Given the description of an element on the screen output the (x, y) to click on. 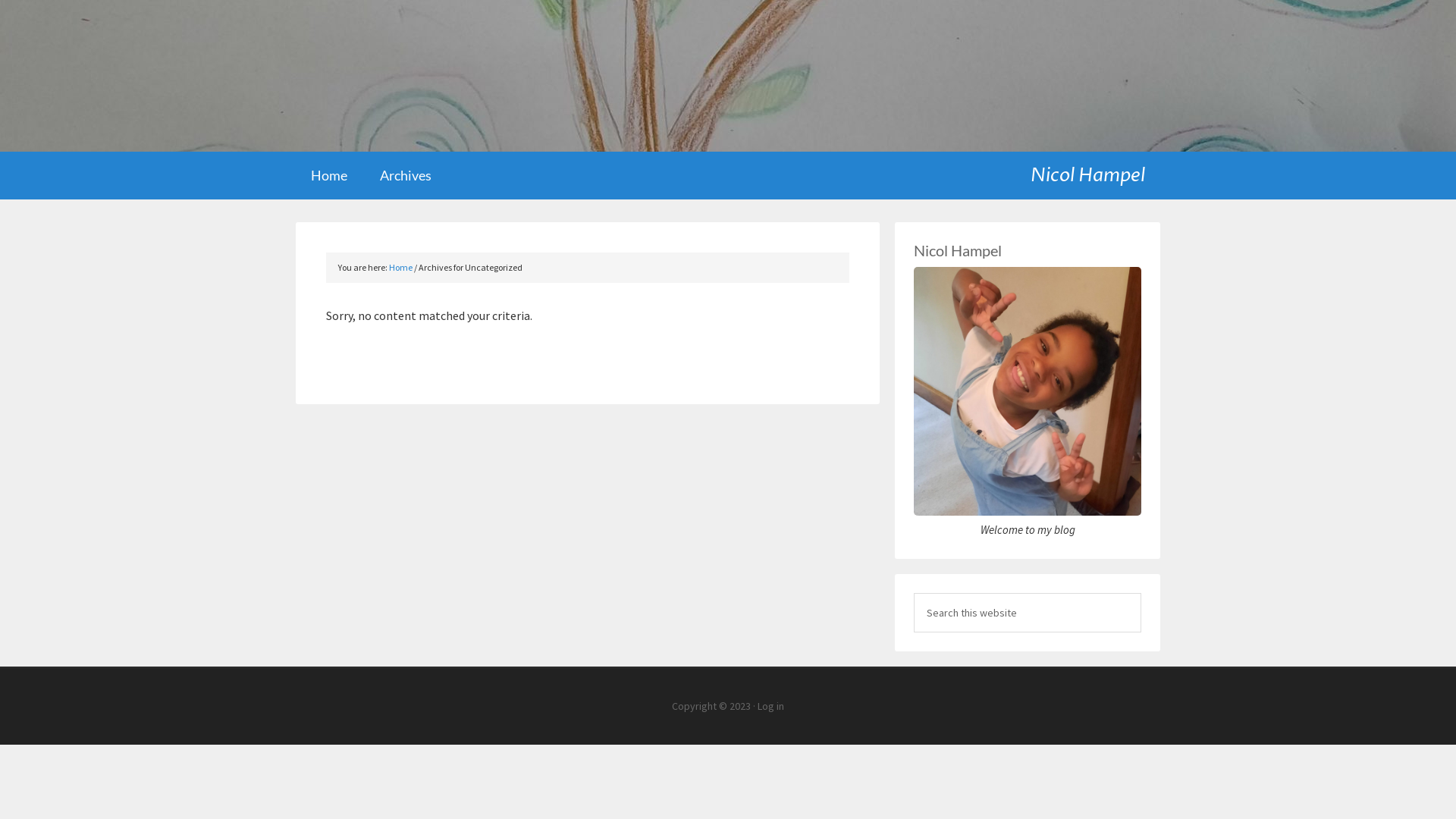
Home Element type: text (400, 267)
Archives Element type: text (405, 175)
Nicol Hampel Element type: text (1095, 170)
Search Element type: text (1140, 591)
Home Element type: text (328, 175)
Log in Element type: text (770, 705)
